Given the description of an element on the screen output the (x, y) to click on. 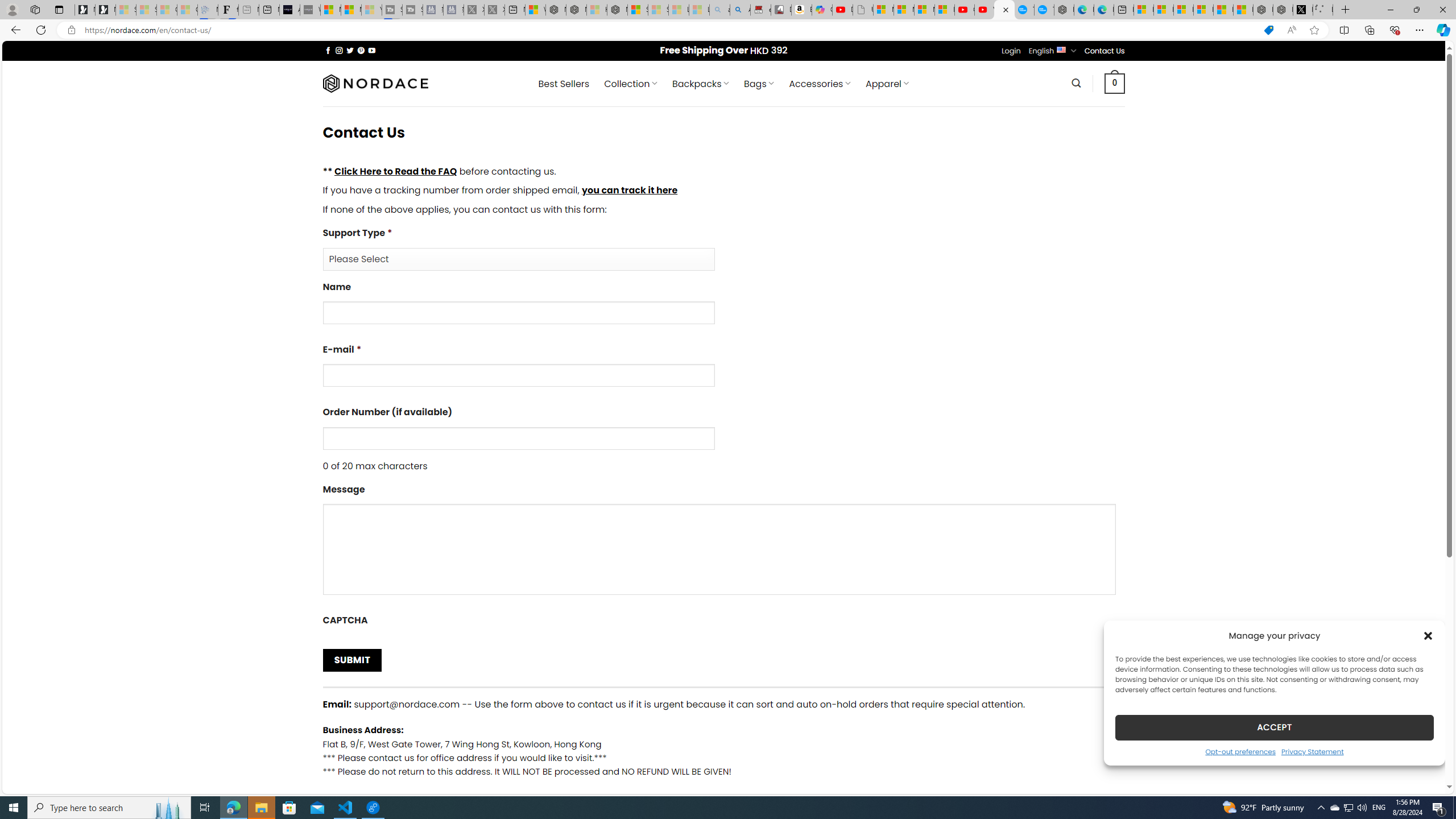
Submit (351, 659)
Opt-out preferences (1240, 750)
Follow on YouTube (371, 49)
Order Number (if available) (517, 437)
 Best Sellers (563, 83)
Click Here to Read the FAQ (395, 170)
Follow on Instagram (338, 49)
